Given the description of an element on the screen output the (x, y) to click on. 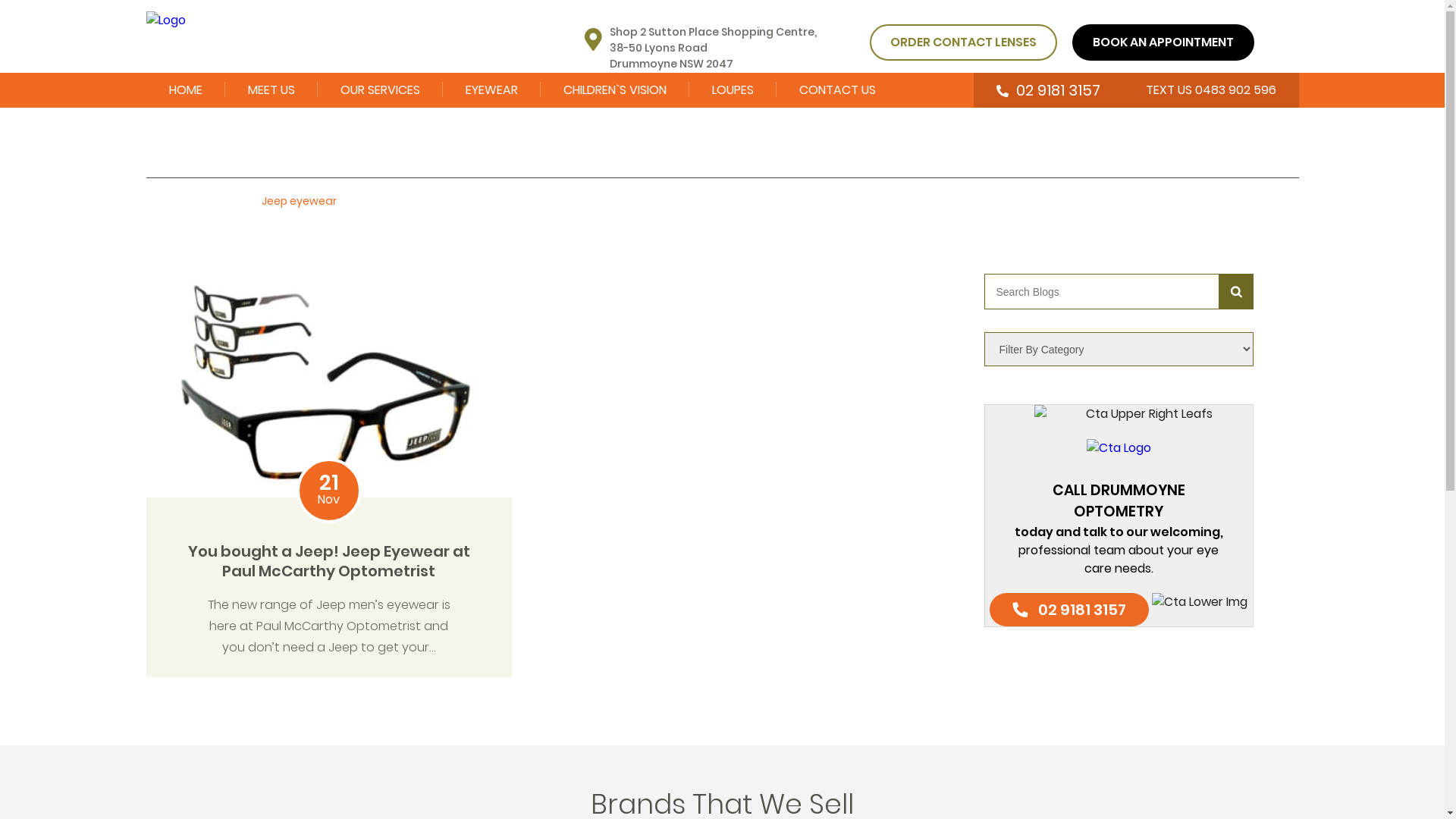
MEET US Element type: text (270, 89)
02 9181 3157 Element type: text (1048, 89)
LOUPES Element type: text (731, 89)
BOOK AN APPOINTMENT Element type: text (1163, 42)
Home Element type: text (161, 201)
TEXT US 0483 902 596 Element type: text (1210, 89)
CONTACT US Element type: text (837, 89)
EYEWEAR Element type: text (491, 89)
Blog Element type: text (218, 201)
YOUR EYE TEST Element type: text (412, 128)
CHILDREN`S VISION Element type: text (613, 89)
HOME Element type: text (184, 89)
OUR SERVICES Element type: text (379, 89)
ORDER CONTACT LENSES Element type: text (962, 42)
FRAMES Element type: text (536, 128)
SUPPORTING OUR COMMUNITY Element type: text (319, 137)
02 9181 3157 Element type: text (1068, 609)
